Given the description of an element on the screen output the (x, y) to click on. 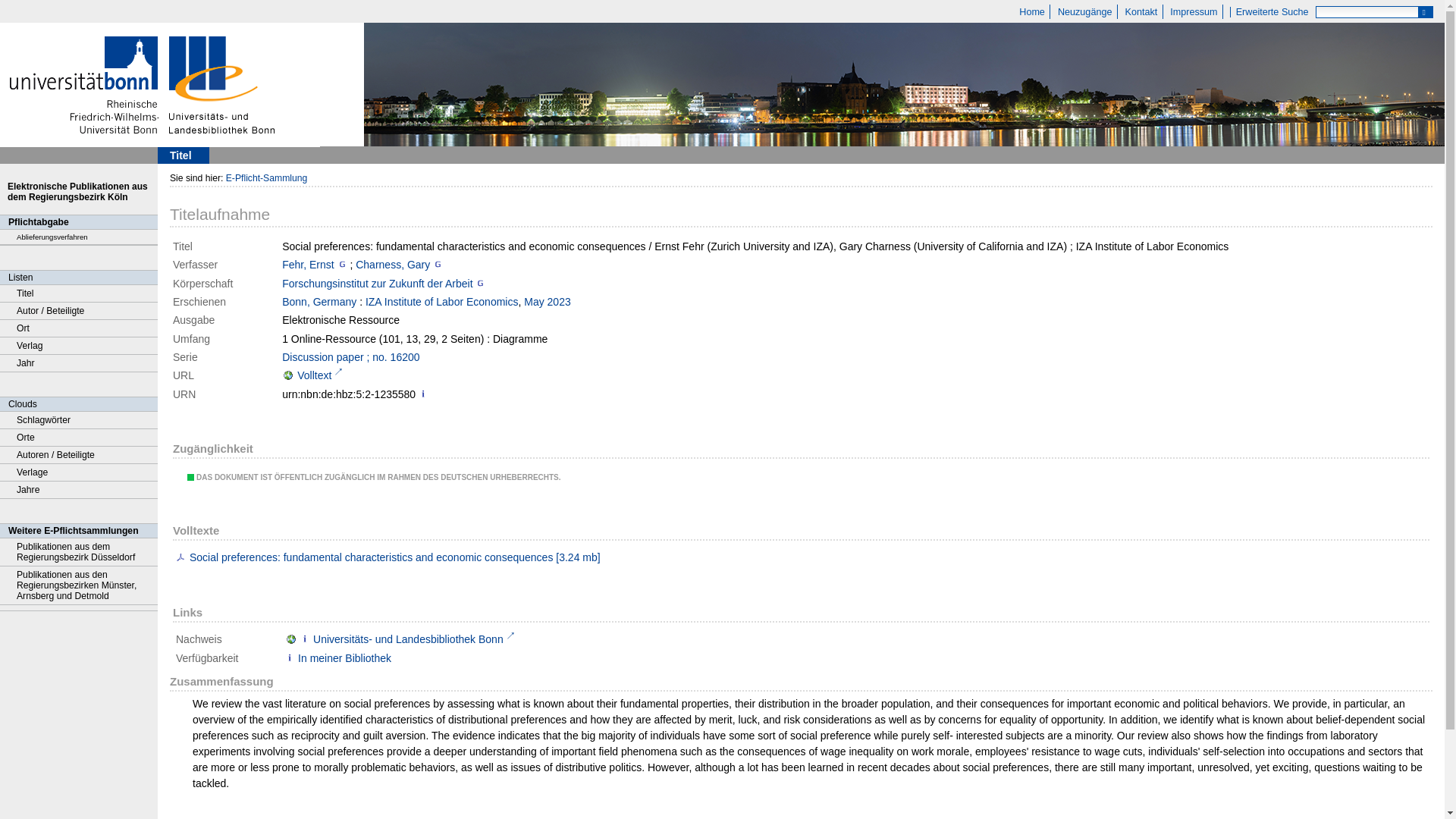
Ort (78, 328)
Titel (78, 293)
Home (1031, 11)
Home - Home (1031, 11)
Forschungsinstitut zur Zukunft der Arbeit (376, 283)
Jahre (78, 489)
Bonn, Germany (319, 301)
Erweiterte Suche (1271, 11)
In der Gemeinsamen Normdatei der DNB nachschlagen (437, 264)
Kontakt (1140, 11)
E-Pflicht-Sammlung (266, 177)
IZA Institute of Labor Economics (441, 301)
In der Gemeinsamen Normdatei der DNB nachschlagen (342, 264)
May 2023 (547, 301)
Verlage (78, 472)
